Given the description of an element on the screen output the (x, y) to click on. 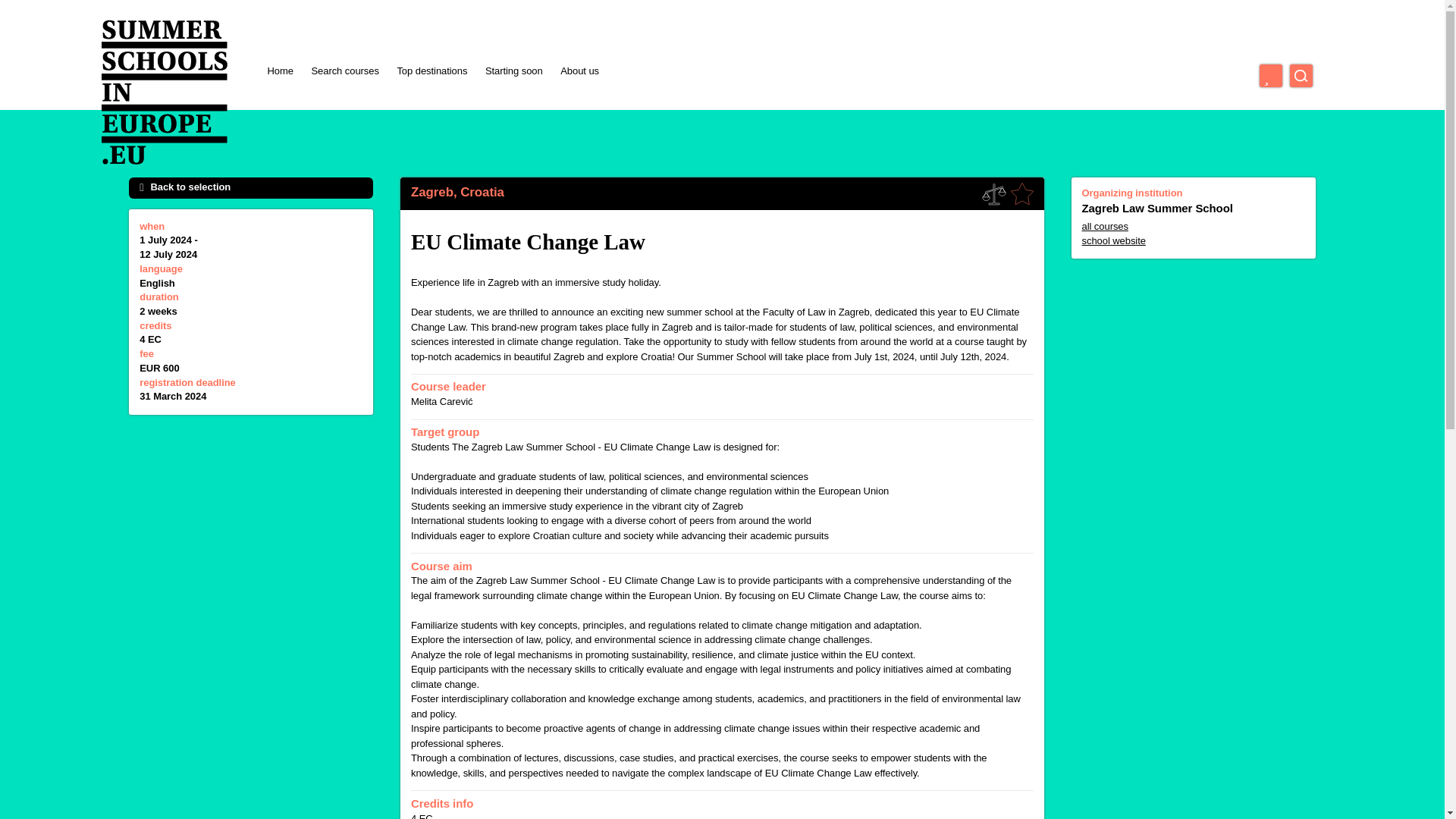
Home (279, 71)
Starting soon (513, 71)
school website (1192, 241)
Search courses (344, 71)
Back to selection (250, 188)
all courses (1192, 227)
search (1301, 75)
Add as favourite (1021, 193)
Top destinations (431, 71)
About us (579, 71)
